Given the description of an element on the screen output the (x, y) to click on. 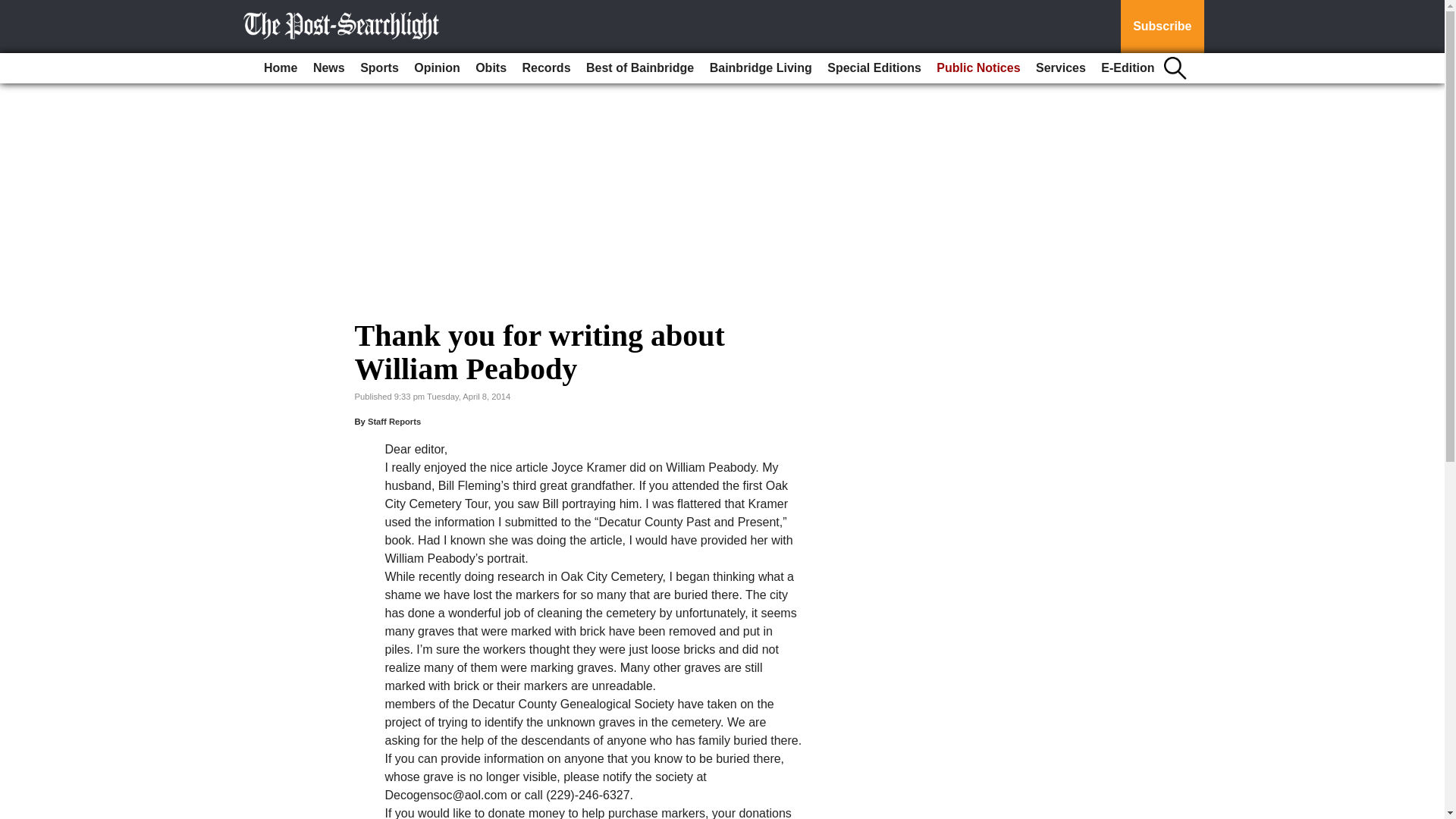
Obits (490, 68)
Public Notices (978, 68)
News (328, 68)
Bainbridge Living (760, 68)
Services (1060, 68)
Special Editions (874, 68)
Go (13, 9)
E-Edition (1127, 68)
Staff Reports (394, 420)
Opinion (436, 68)
